Given the description of an element on the screen output the (x, y) to click on. 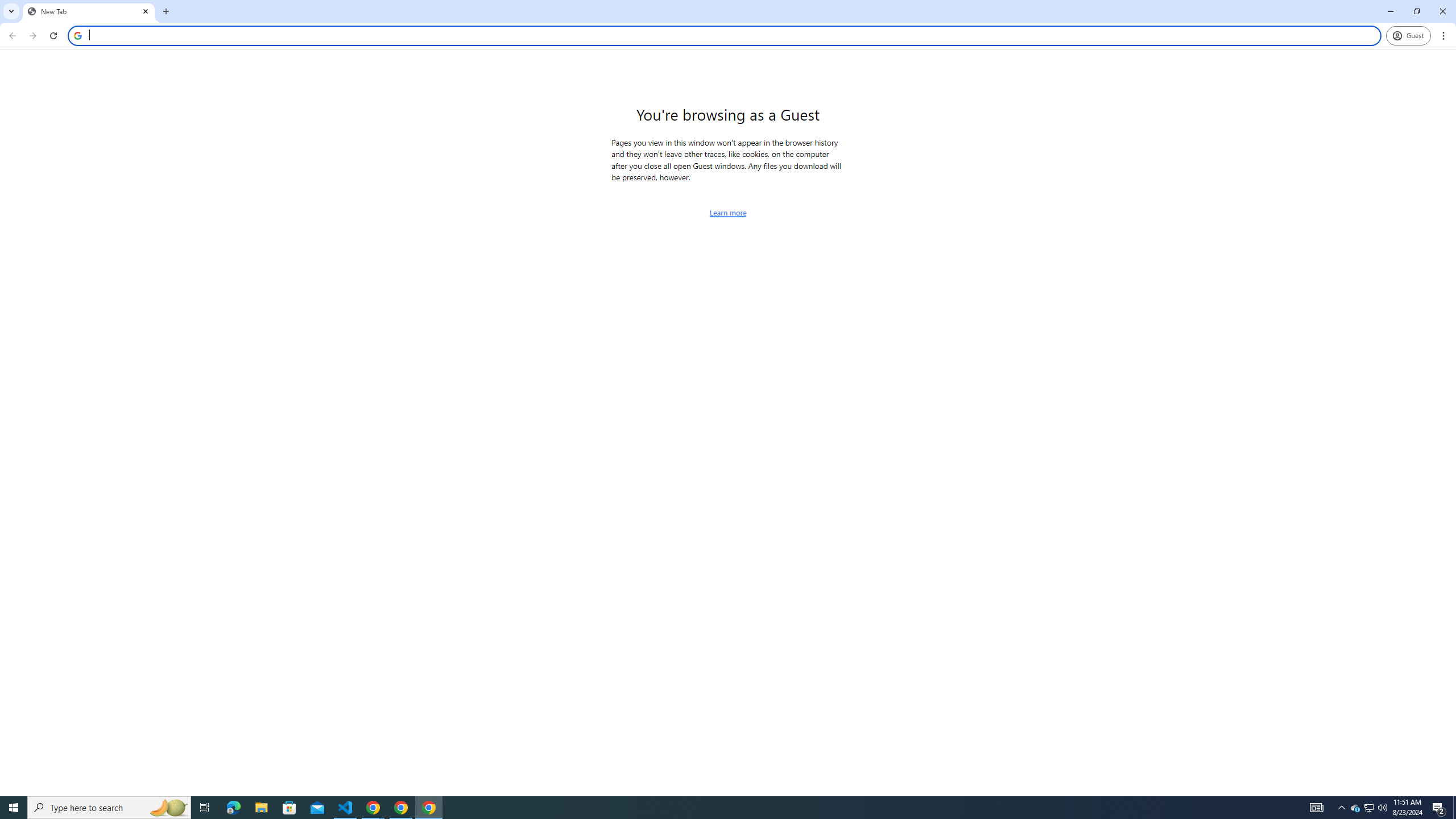
Guest (1408, 35)
New Tab (88, 11)
Search icon (77, 35)
Learn more about browsing as a guest (727, 212)
